Given the description of an element on the screen output the (x, y) to click on. 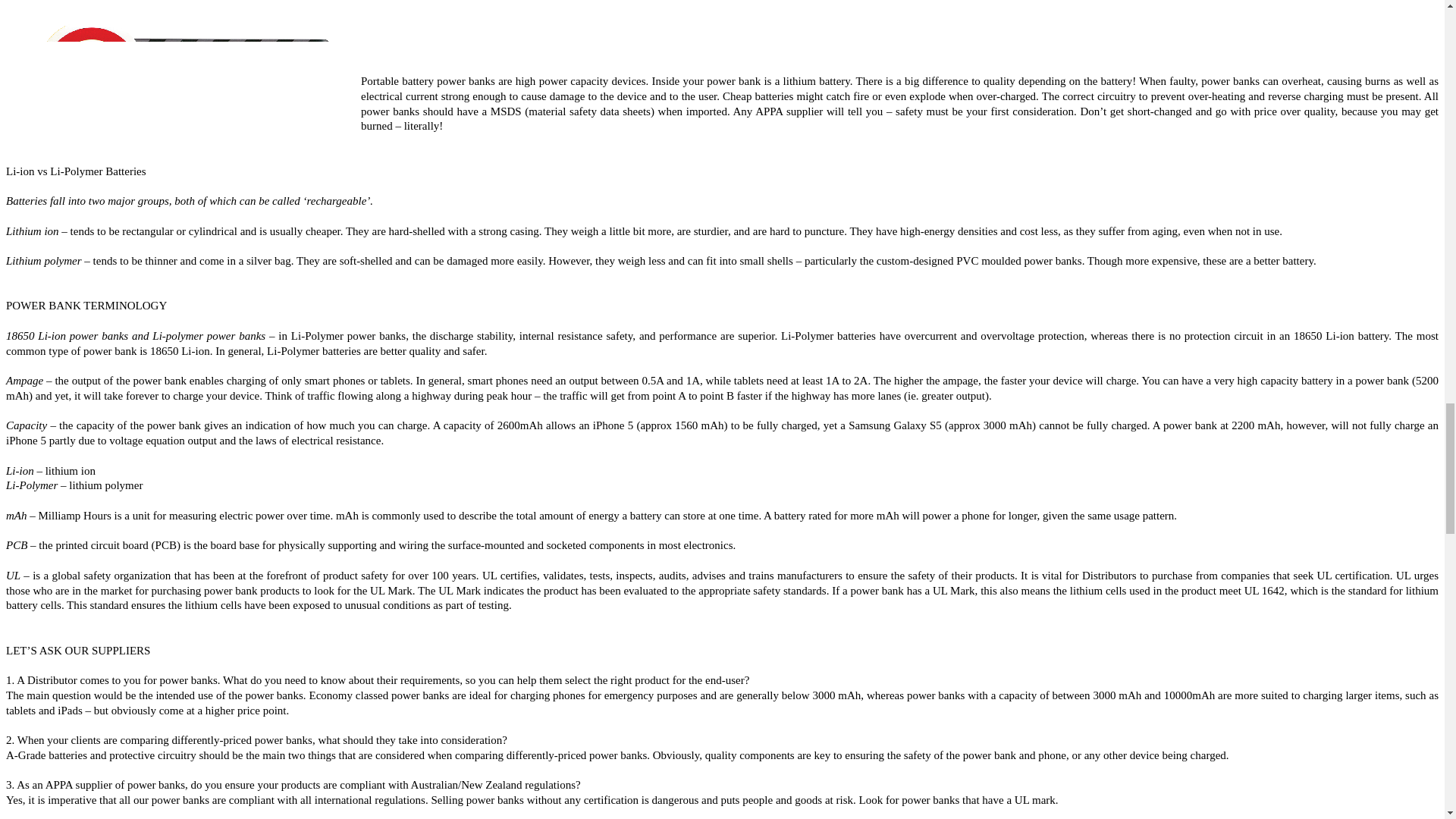
Power-Bank-Article---Images-02 (183, 78)
